Given the description of an element on the screen output the (x, y) to click on. 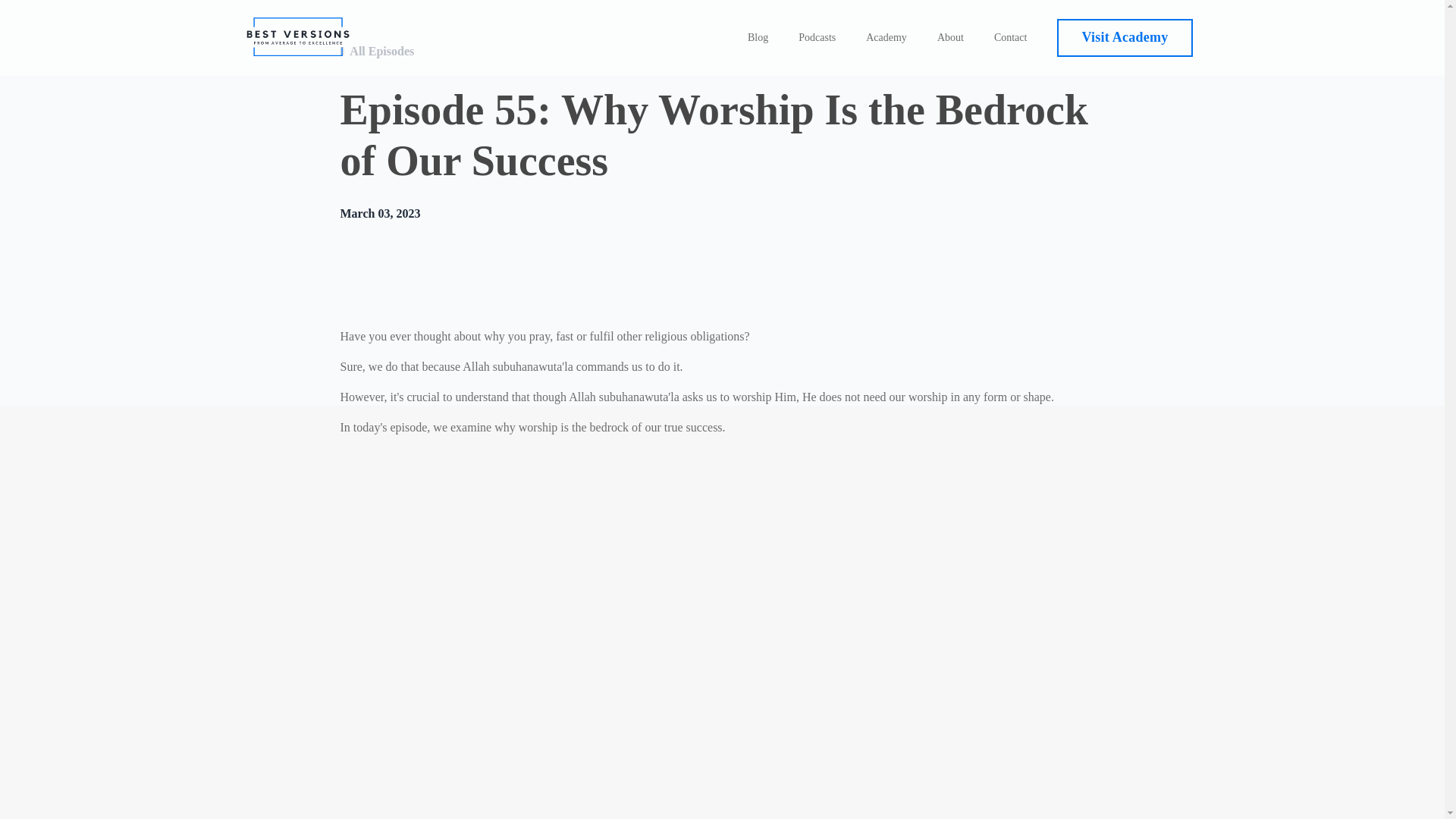
Contact (1010, 37)
Visit Academy (1124, 37)
All Episodes (381, 51)
About (950, 37)
Blog (758, 37)
Podcasts (816, 37)
Academy (886, 37)
